Given the description of an element on the screen output the (x, y) to click on. 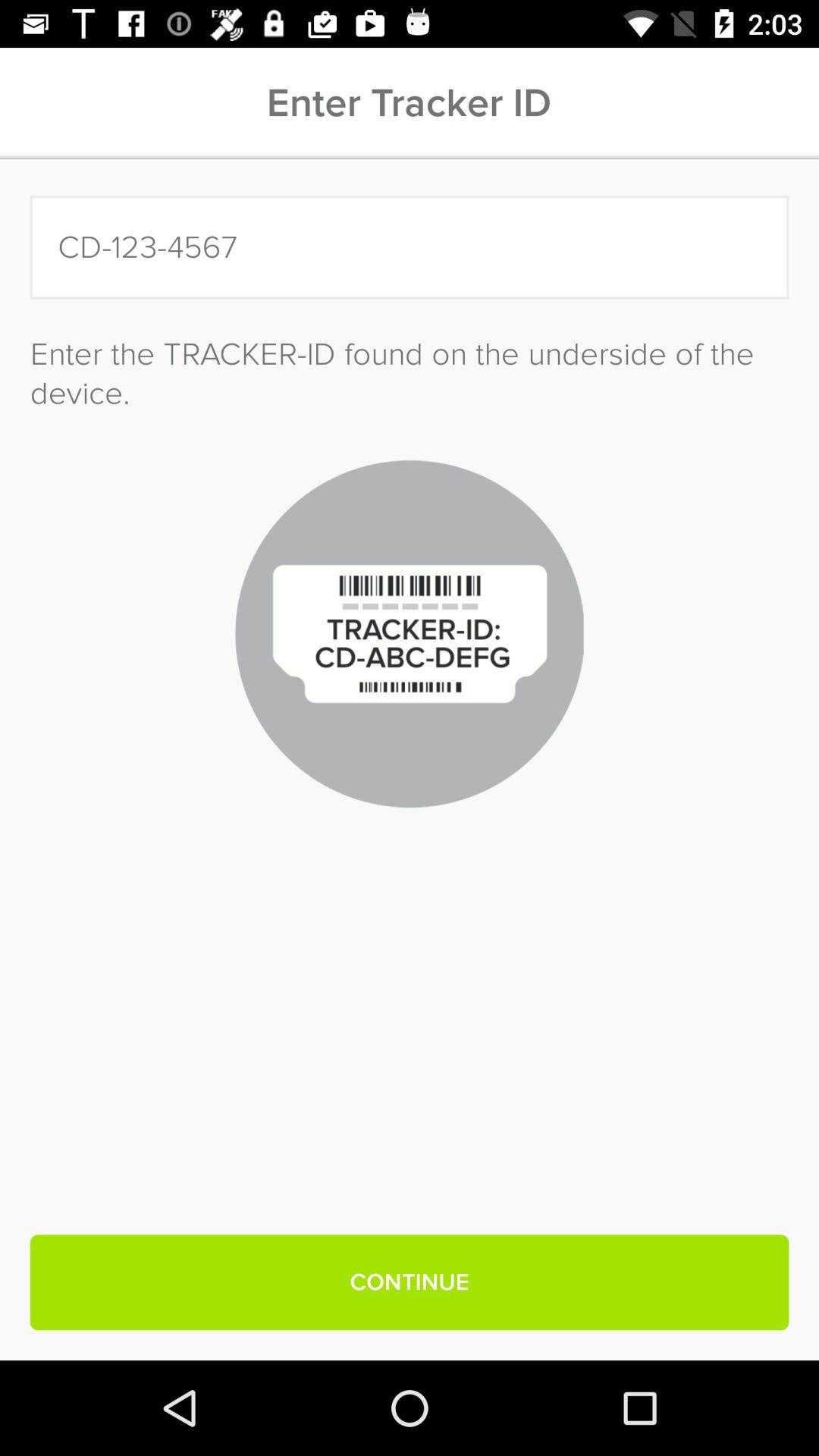
turn on continue icon (409, 1282)
